Given the description of an element on the screen output the (x, y) to click on. 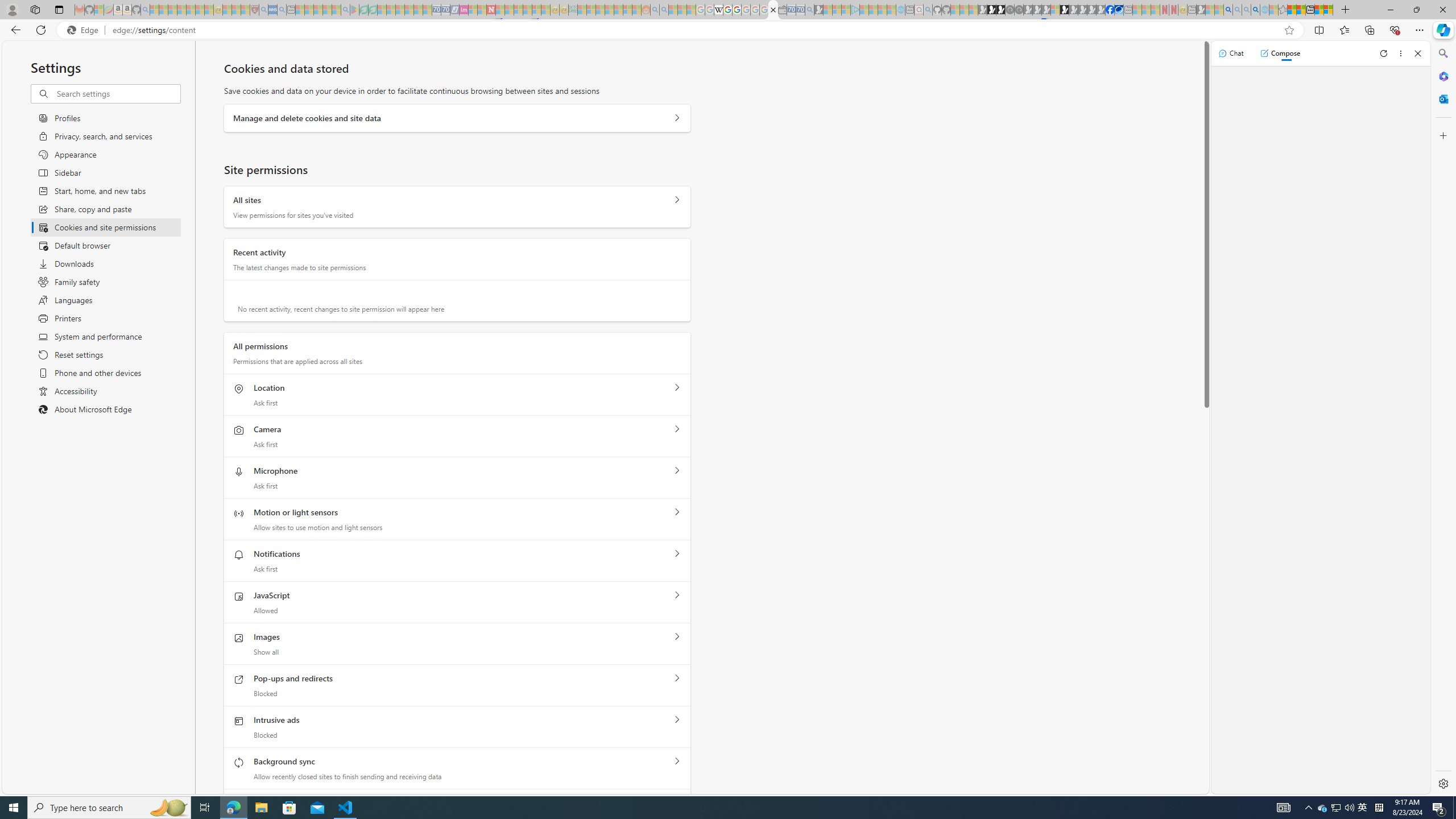
All sites (676, 200)
Favorites - Sleeping (1283, 9)
